Given the description of an element on the screen output the (x, y) to click on. 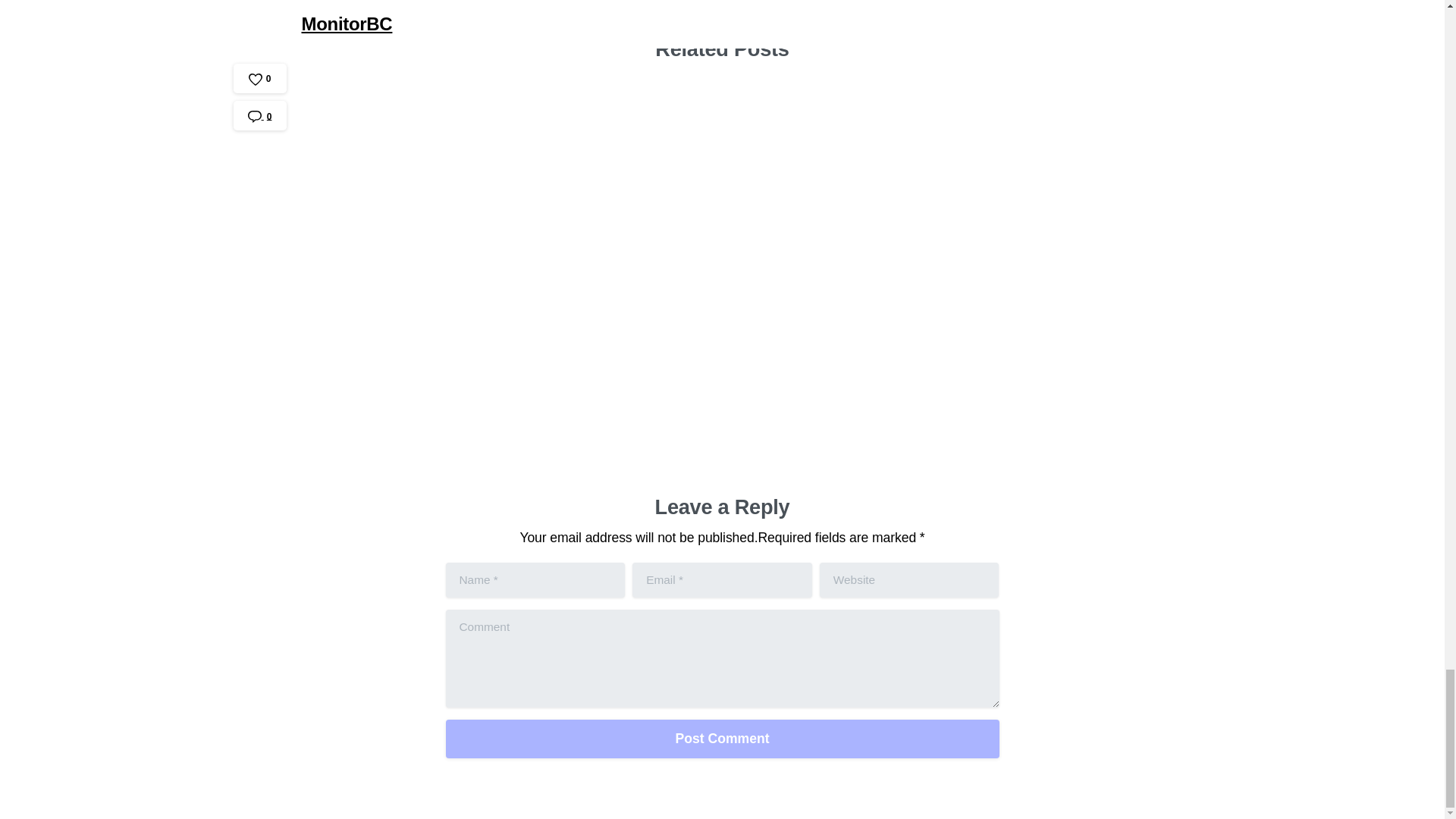
Post Comment (721, 739)
